Given the description of an element on the screen output the (x, y) to click on. 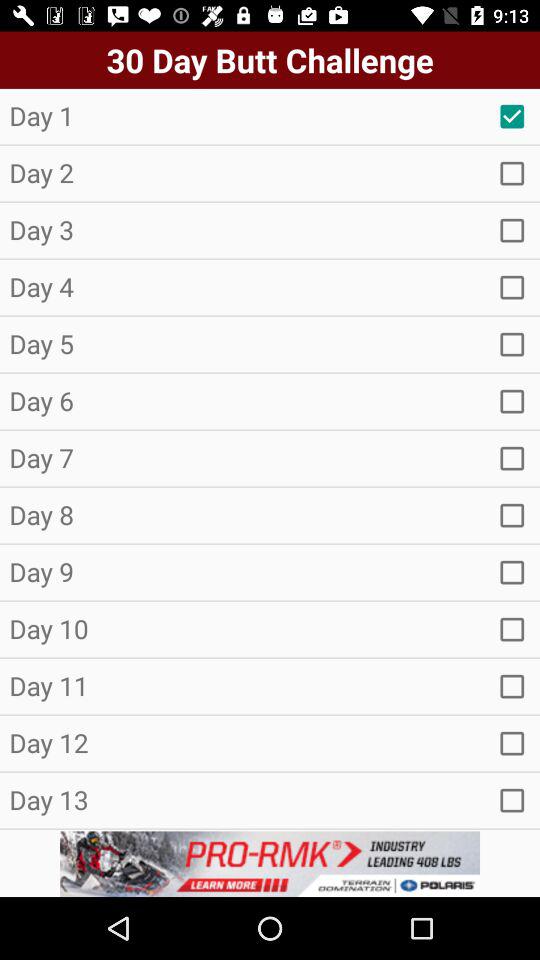
select button (512, 800)
